Given the description of an element on the screen output the (x, y) to click on. 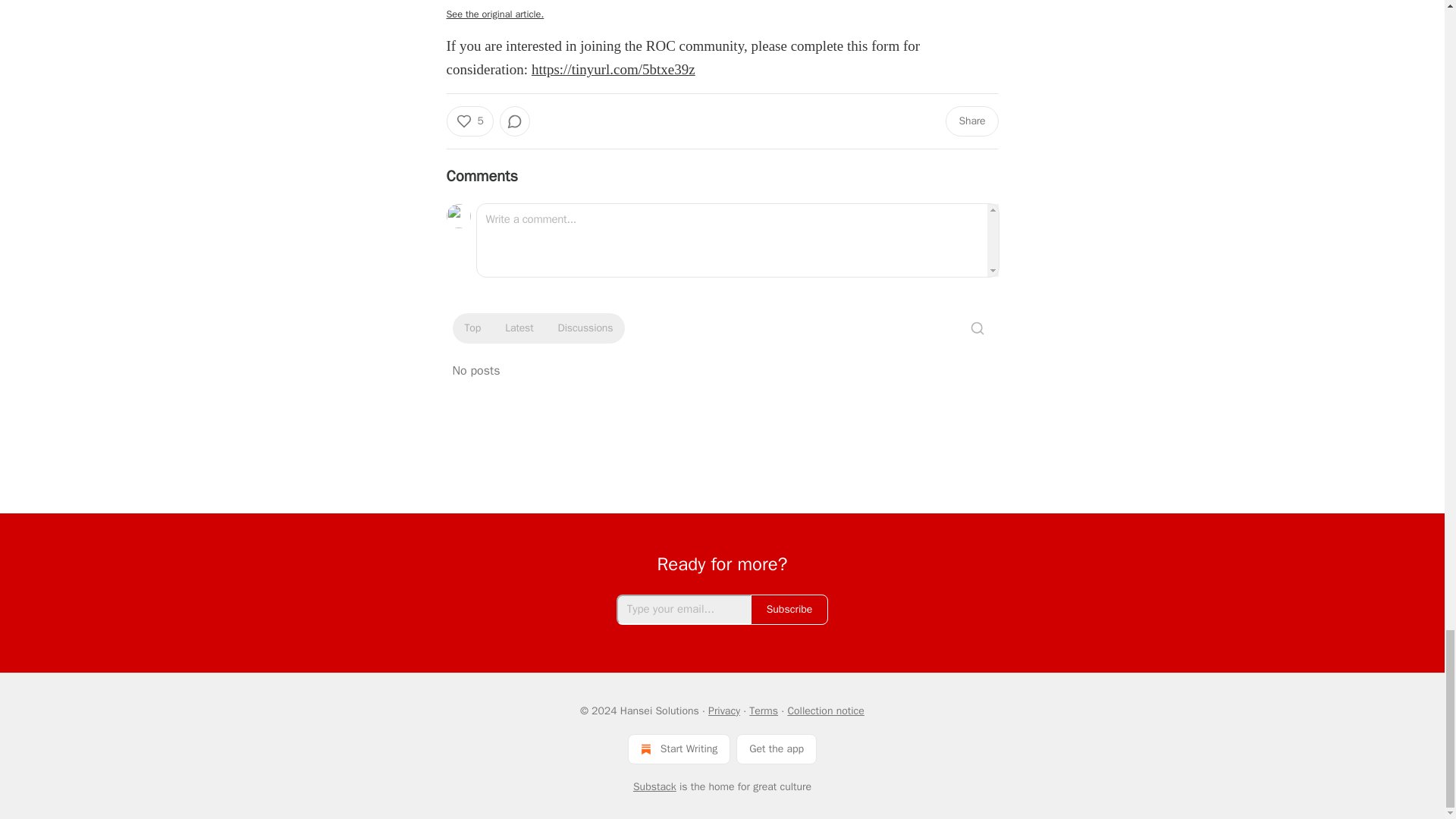
5 (469, 121)
See the original article. (494, 14)
Share (970, 121)
